Given the description of an element on the screen output the (x, y) to click on. 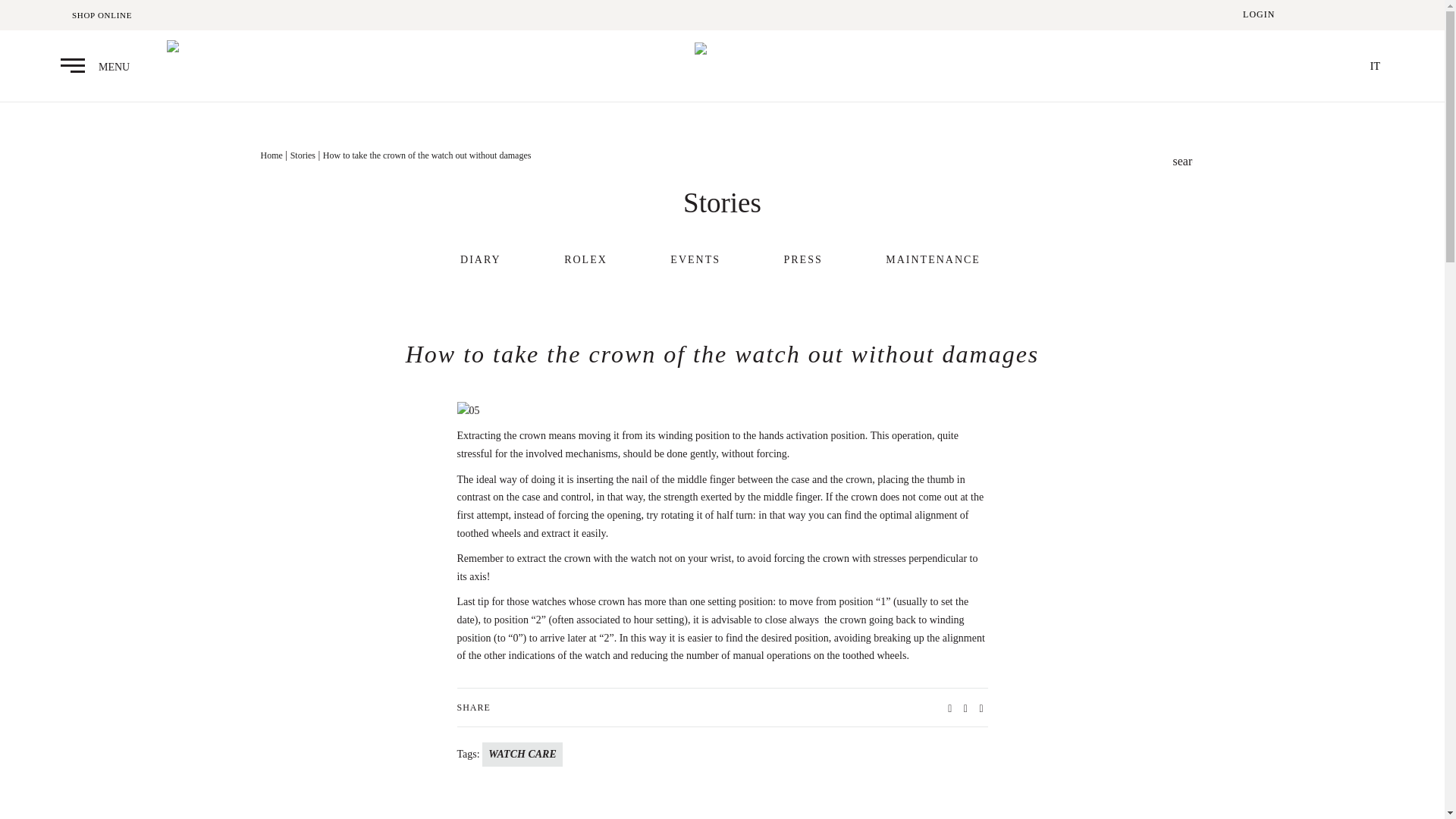
Rolex (1250, 68)
SHOP ONLINE (101, 14)
Official rolex retailer rome (1250, 65)
Patek (203, 47)
LOGIN (1259, 14)
Hausmann (721, 65)
